Given the description of an element on the screen output the (x, y) to click on. 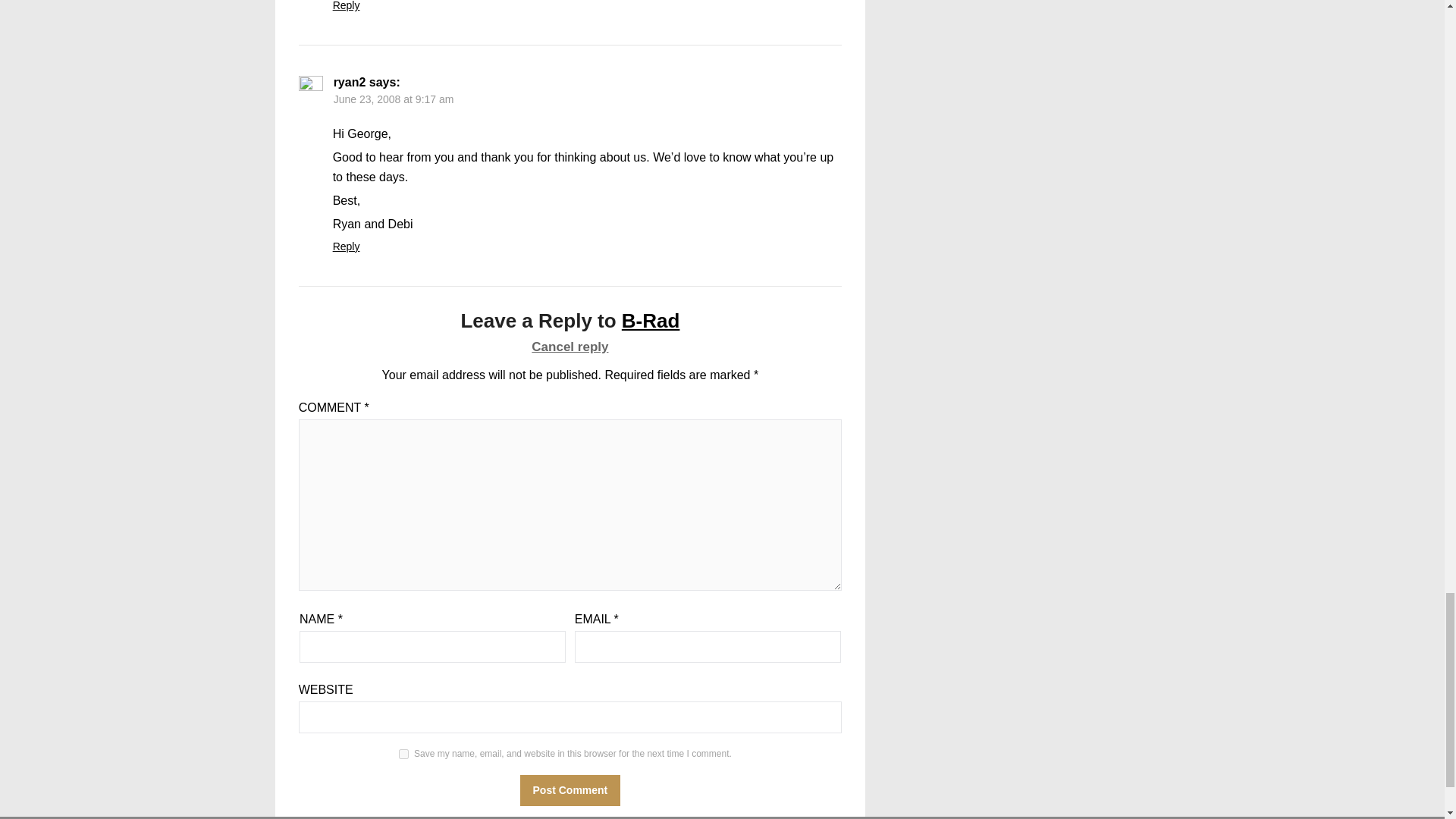
Reply (346, 246)
Post Comment (570, 789)
yes (403, 754)
June 23, 2008 at 9:17 am (393, 99)
Post Comment (570, 789)
Cancel reply (570, 346)
Reply (346, 5)
B-Rad (650, 320)
